Given the description of an element on the screen output the (x, y) to click on. 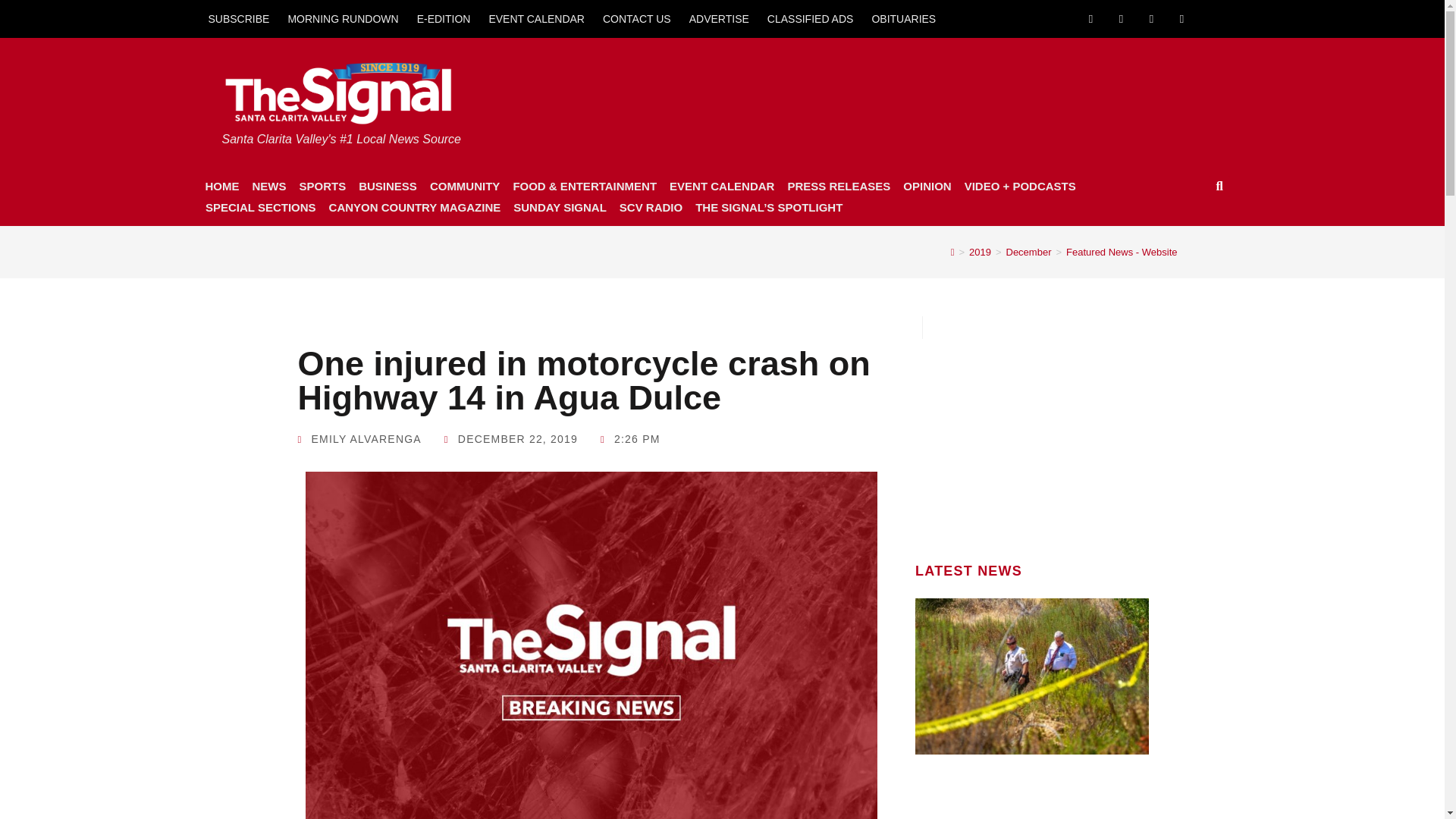
ADVERTISE (718, 18)
HOME (221, 186)
SUBSCRIBE (238, 18)
E-EDITION (443, 18)
MORNING RUNDOWN (342, 18)
OBITUARIES (902, 18)
EVENT CALENDAR (536, 18)
3rd party ad content (1031, 433)
CONTACT US (636, 18)
SPORTS (322, 186)
